Given the description of an element on the screen output the (x, y) to click on. 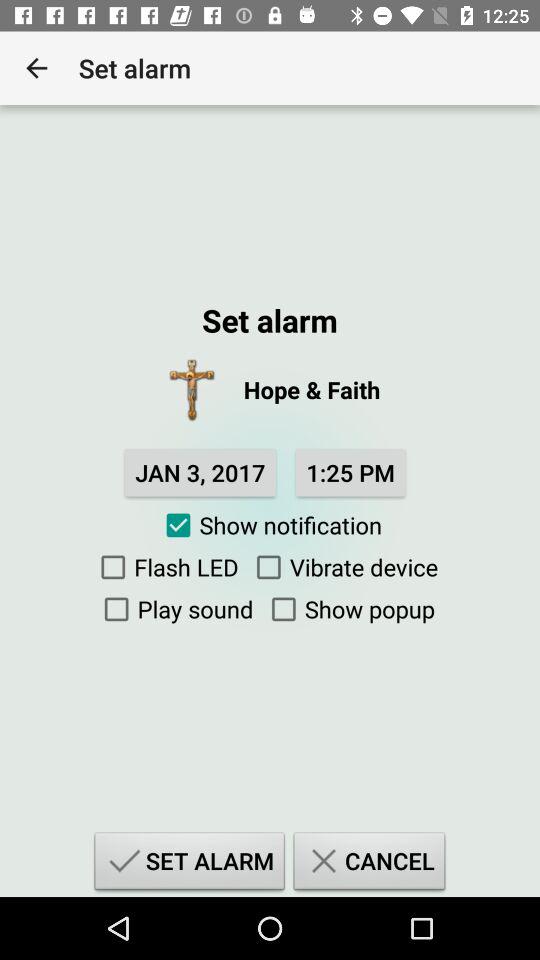
launch the show popup (348, 609)
